Given the description of an element on the screen output the (x, y) to click on. 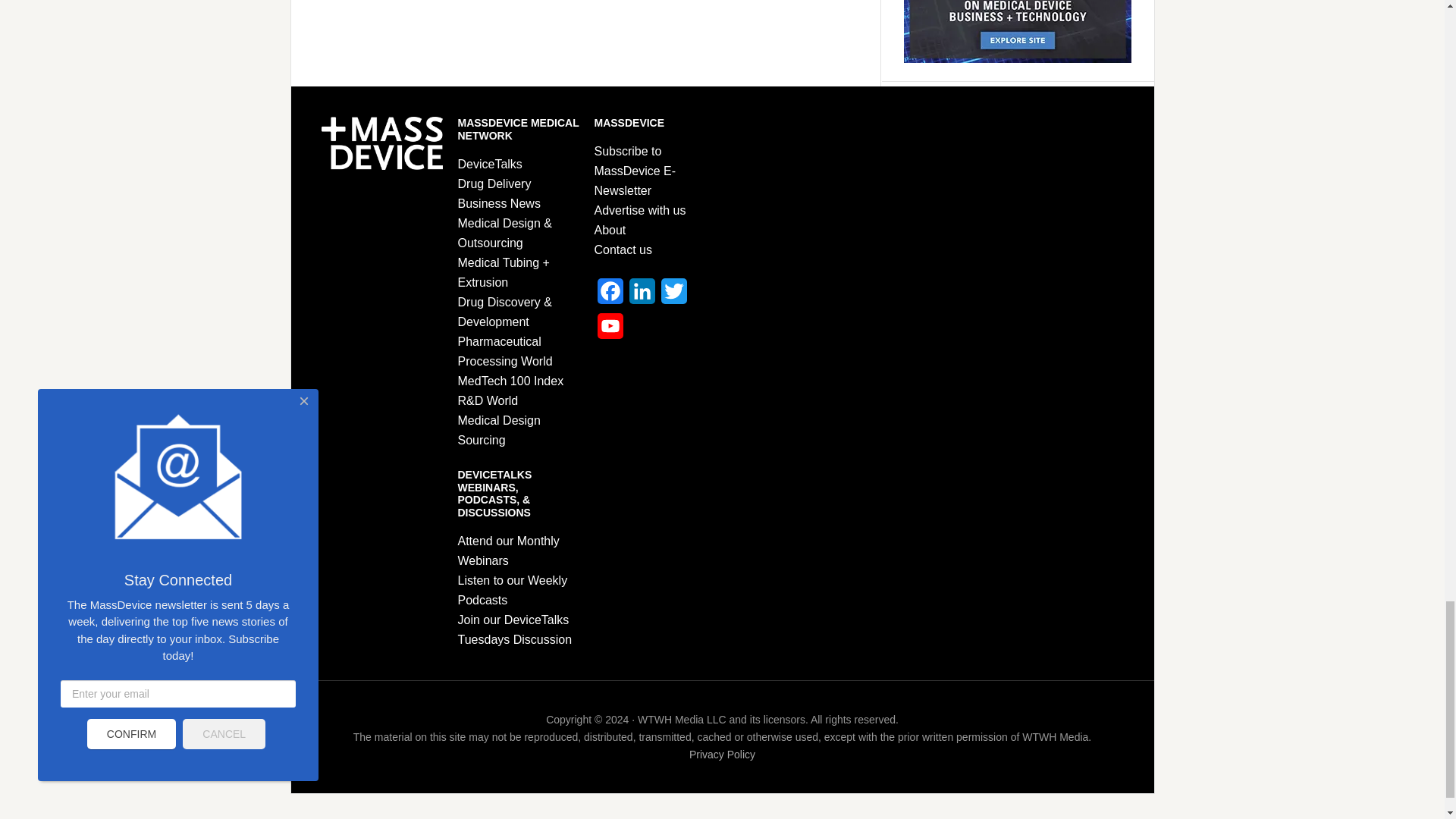
YouTube Channel (610, 330)
LinkedIn Company (642, 295)
Twitter (674, 295)
Facebook (610, 295)
